Given the description of an element on the screen output the (x, y) to click on. 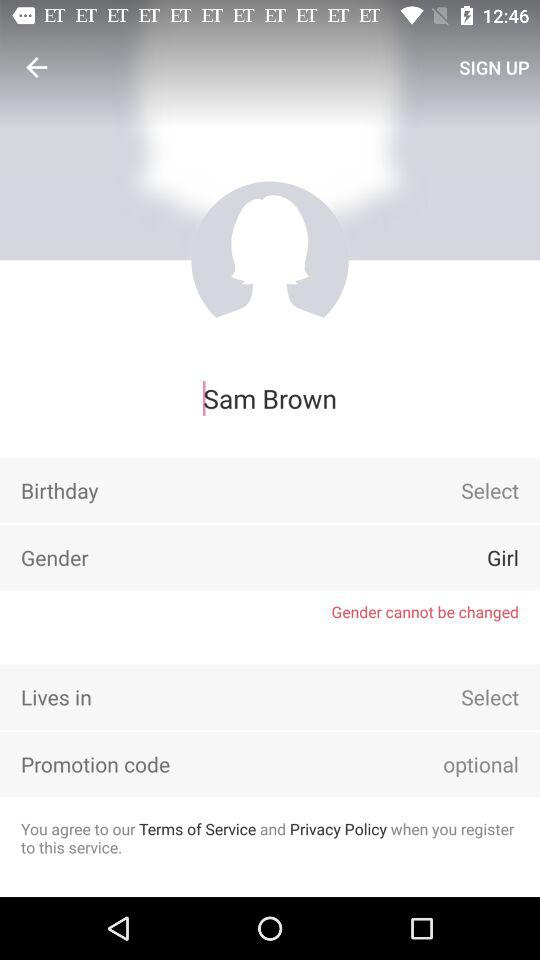
open icon above sam brown (36, 67)
